Given the description of an element on the screen output the (x, y) to click on. 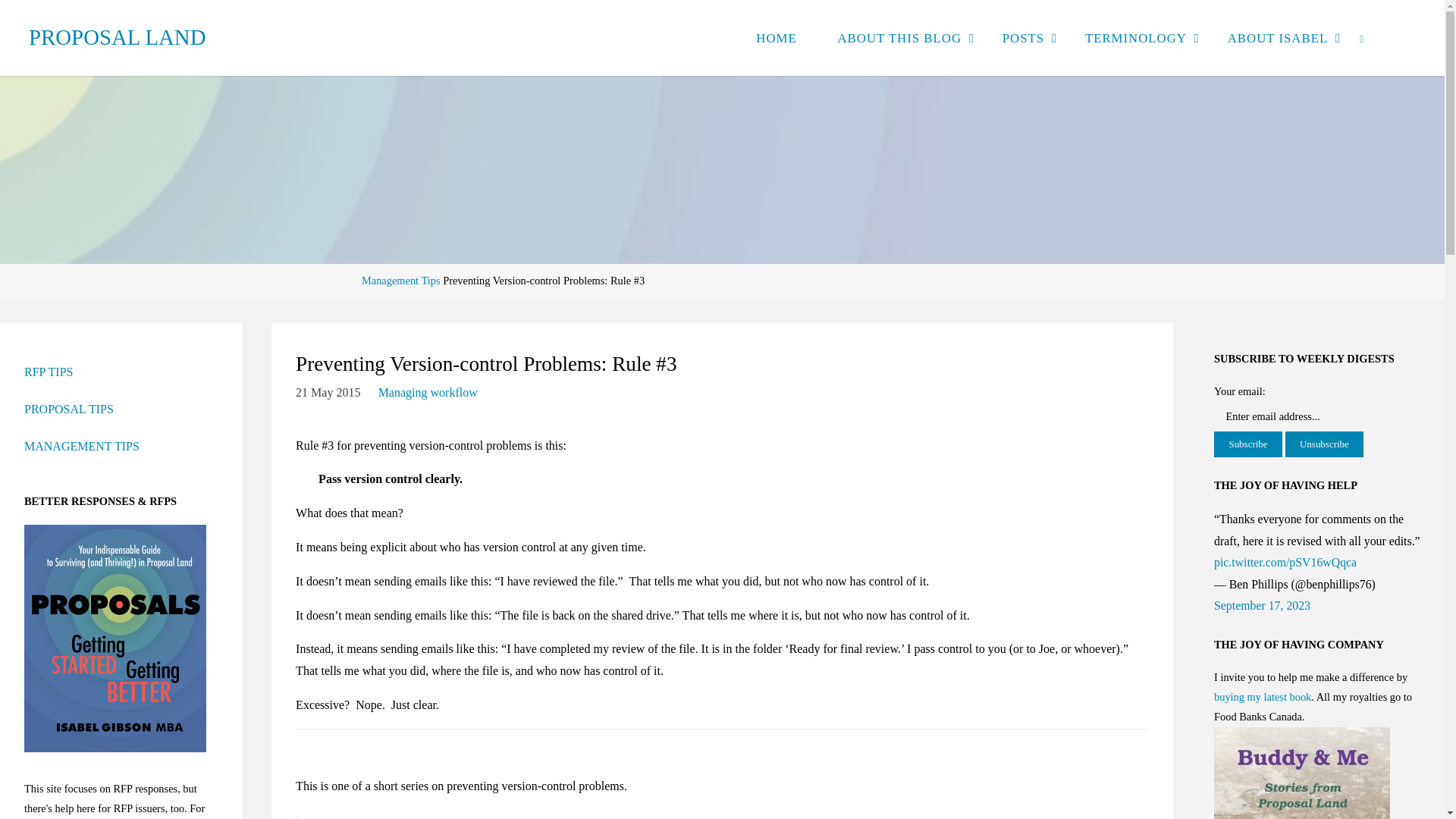
Subscribe (1248, 444)
Enter email address... (1291, 416)
Unsubscribe (1324, 444)
